Given the description of an element on the screen output the (x, y) to click on. 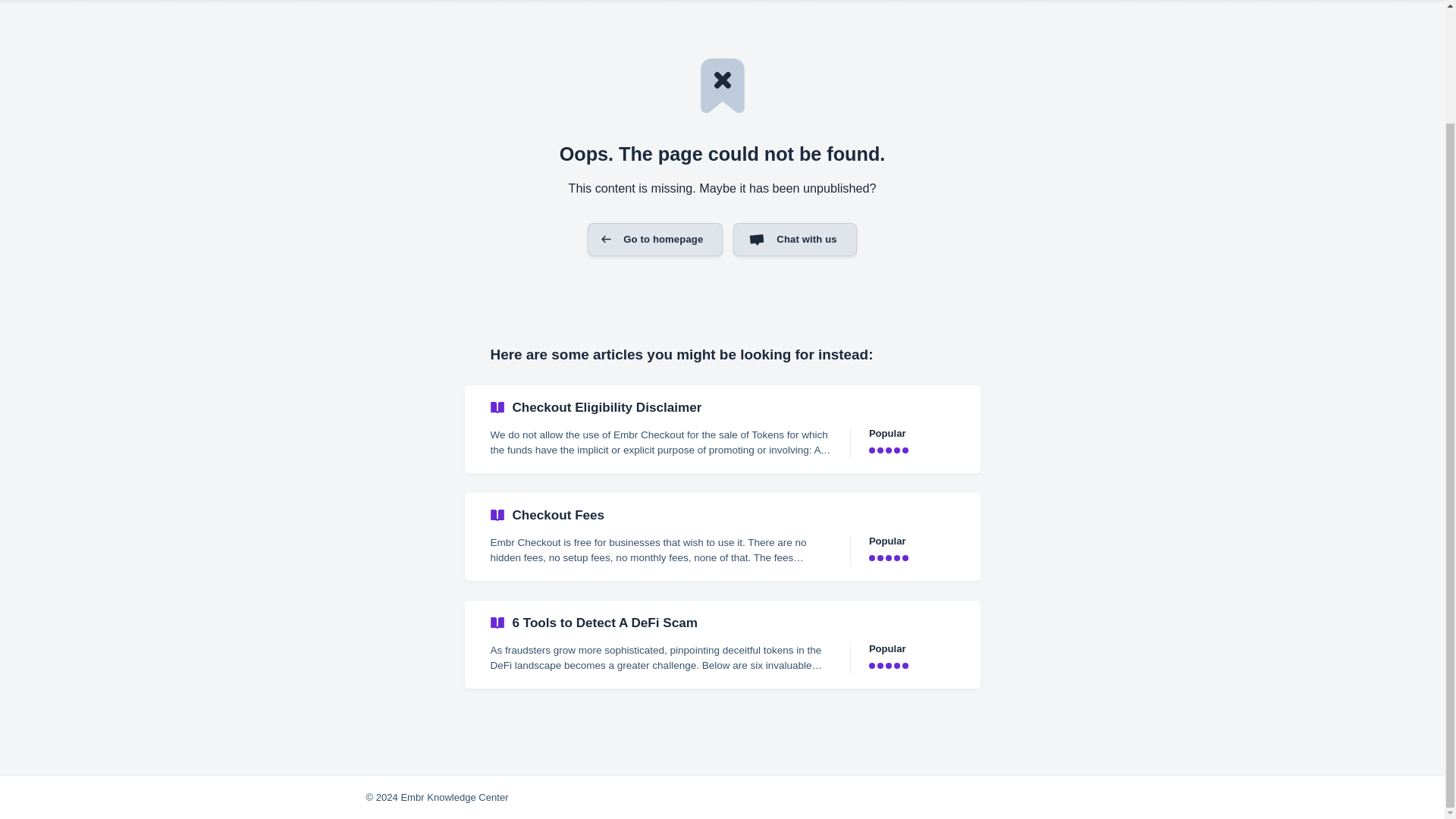
Chat with us (794, 239)
Go to homepage (655, 239)
